Given the description of an element on the screen output the (x, y) to click on. 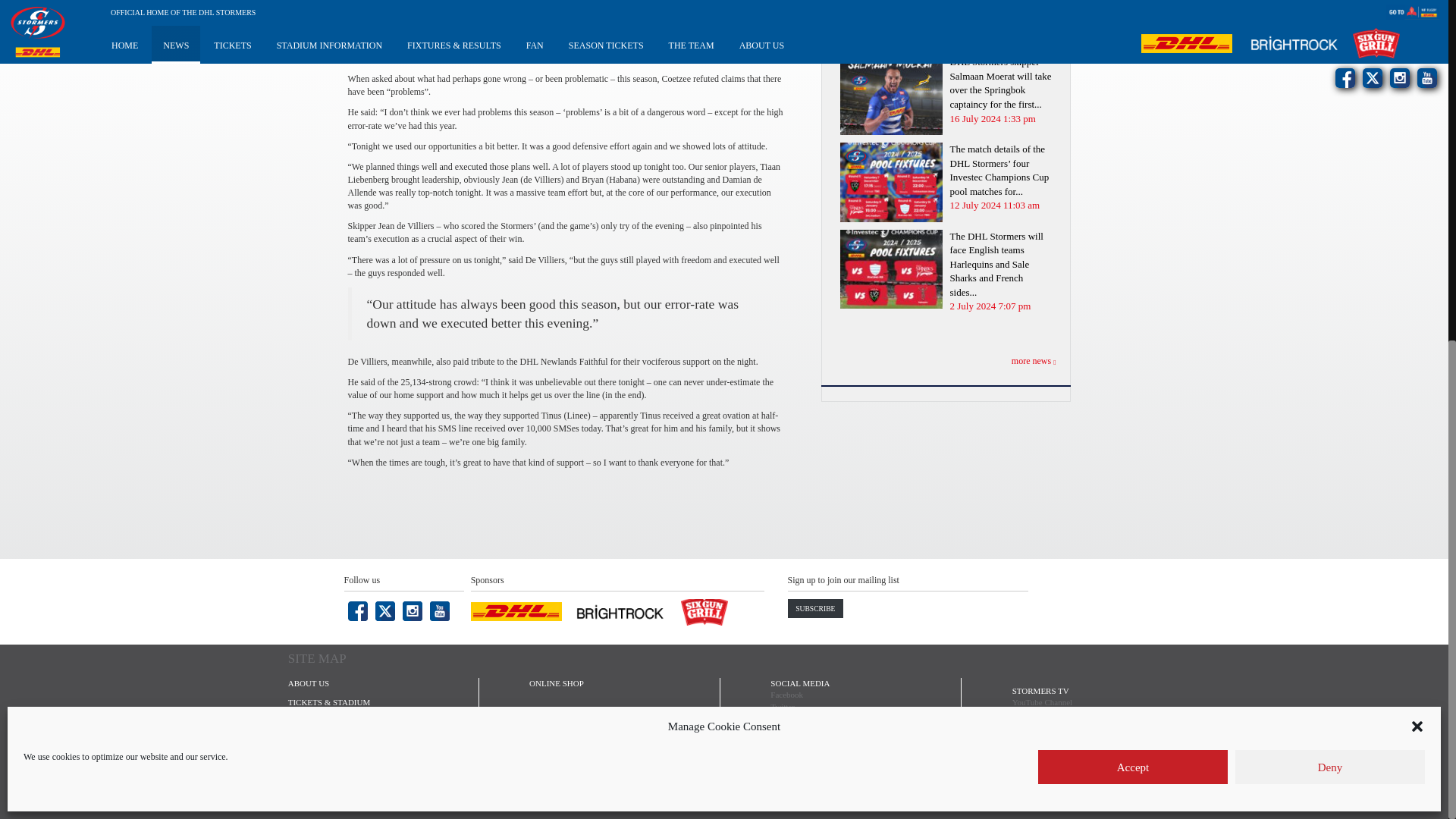
Deny (1329, 183)
Accept (1132, 183)
